Given the description of an element on the screen output the (x, y) to click on. 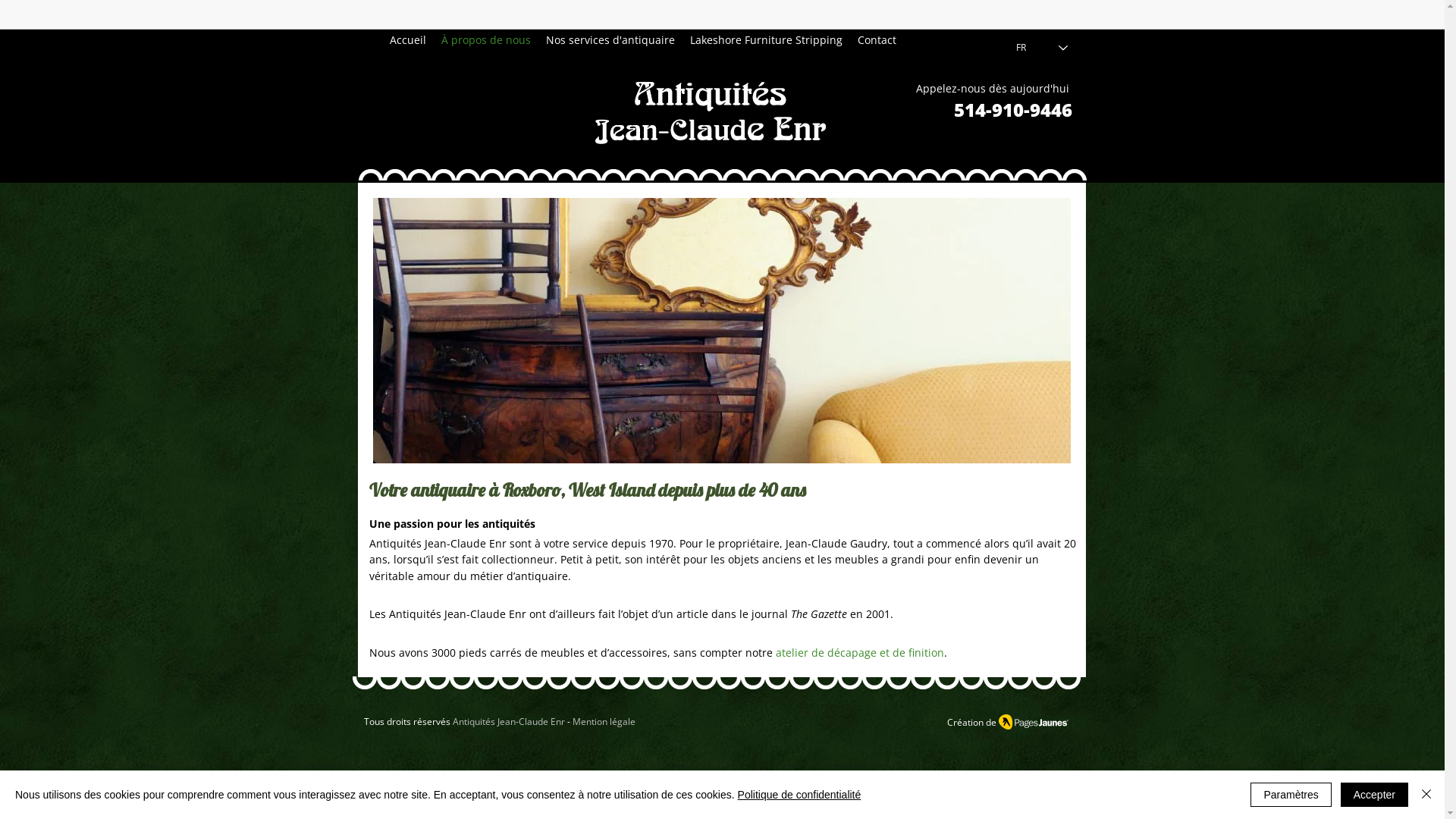
Lakeshore Furniture Stripping Element type: text (766, 39)
514-910-9446 Element type: text (1012, 113)
Contact Element type: text (876, 39)
Embedded Content Element type: hover (1063, 19)
Nos services d'antiquaire Element type: text (610, 39)
Embedded Content Element type: hover (991, 14)
Accepter Element type: text (1374, 794)
Accueil Element type: text (407, 39)
